Given the description of an element on the screen output the (x, y) to click on. 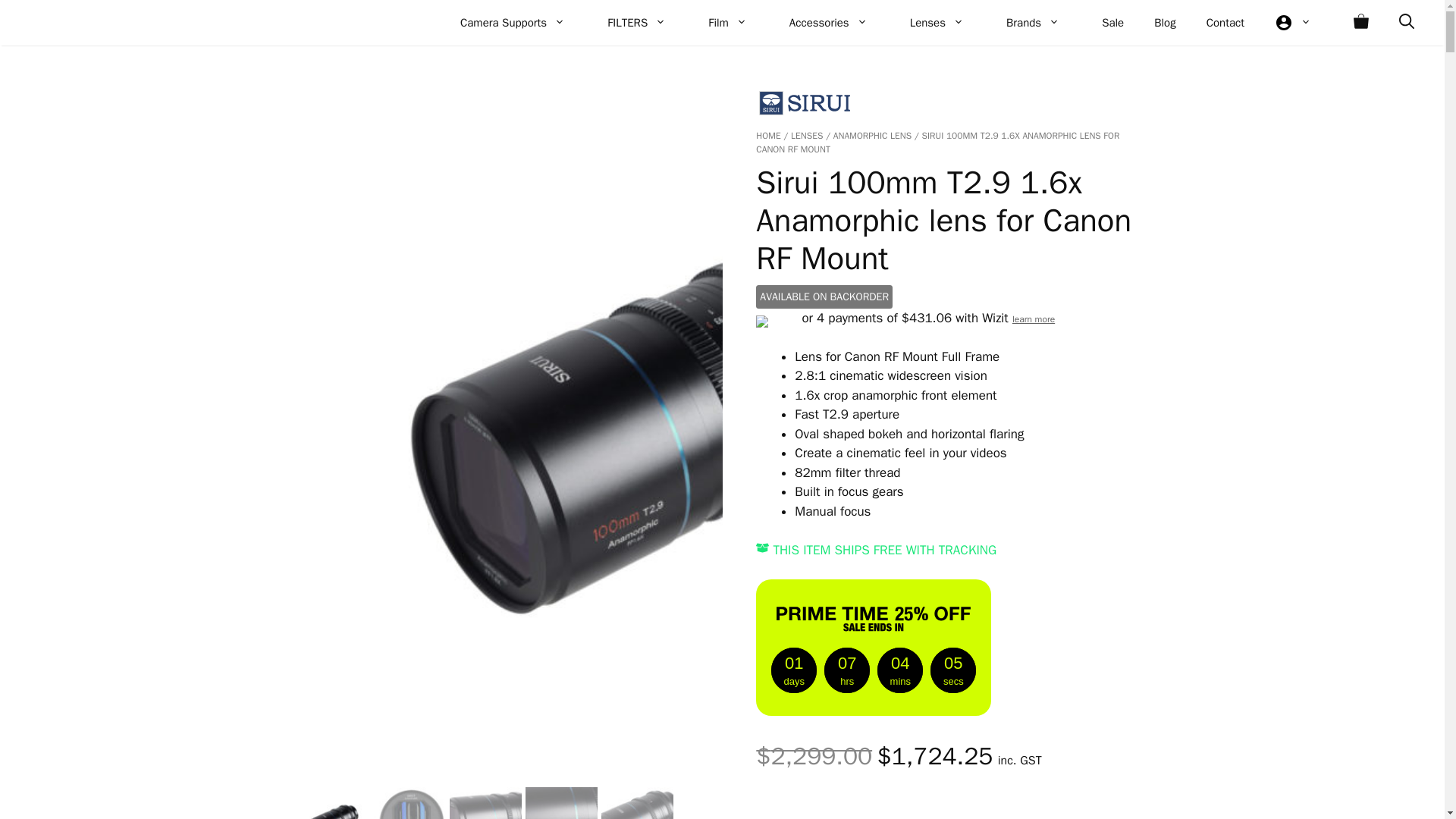
View your shopping cart (1361, 22)
